Given the description of an element on the screen output the (x, y) to click on. 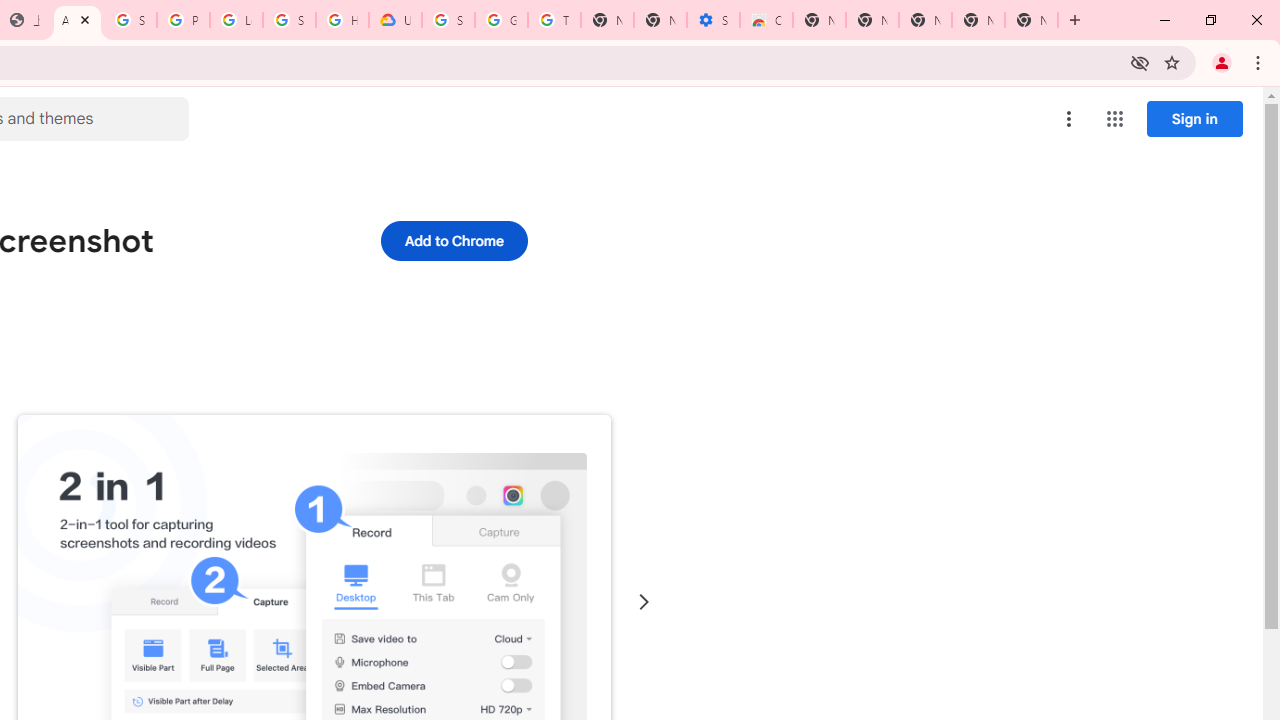
New Tab (1031, 20)
Turn cookies on or off - Computer - Google Account Help (554, 20)
Awesome Screen Recorder & Screenshot - Chrome Web Store (77, 20)
Settings - Accessibility (713, 20)
Sign in - Google Accounts (448, 20)
Sign in - Google Accounts (130, 20)
Google Account Help (501, 20)
